Given the description of an element on the screen output the (x, y) to click on. 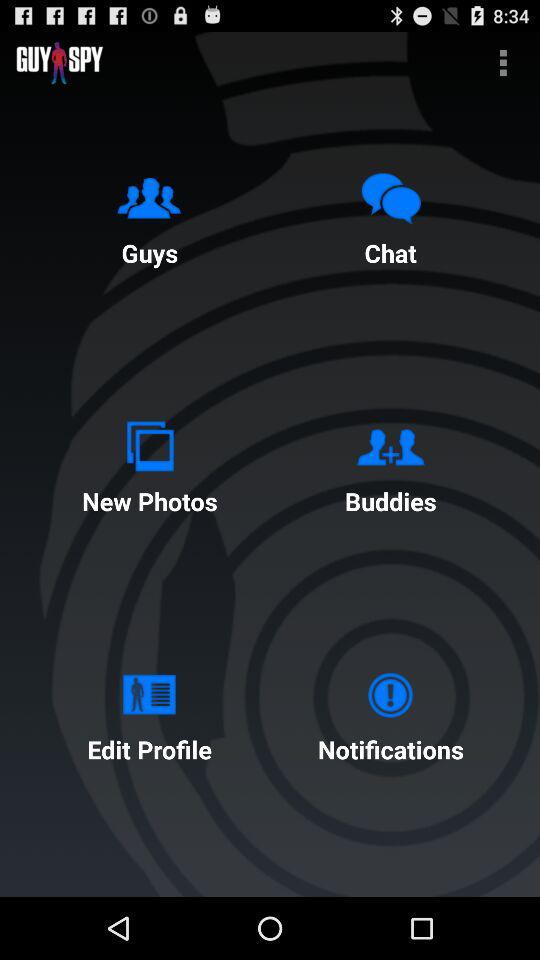
open icon at the bottom left corner (149, 712)
